Given the description of an element on the screen output the (x, y) to click on. 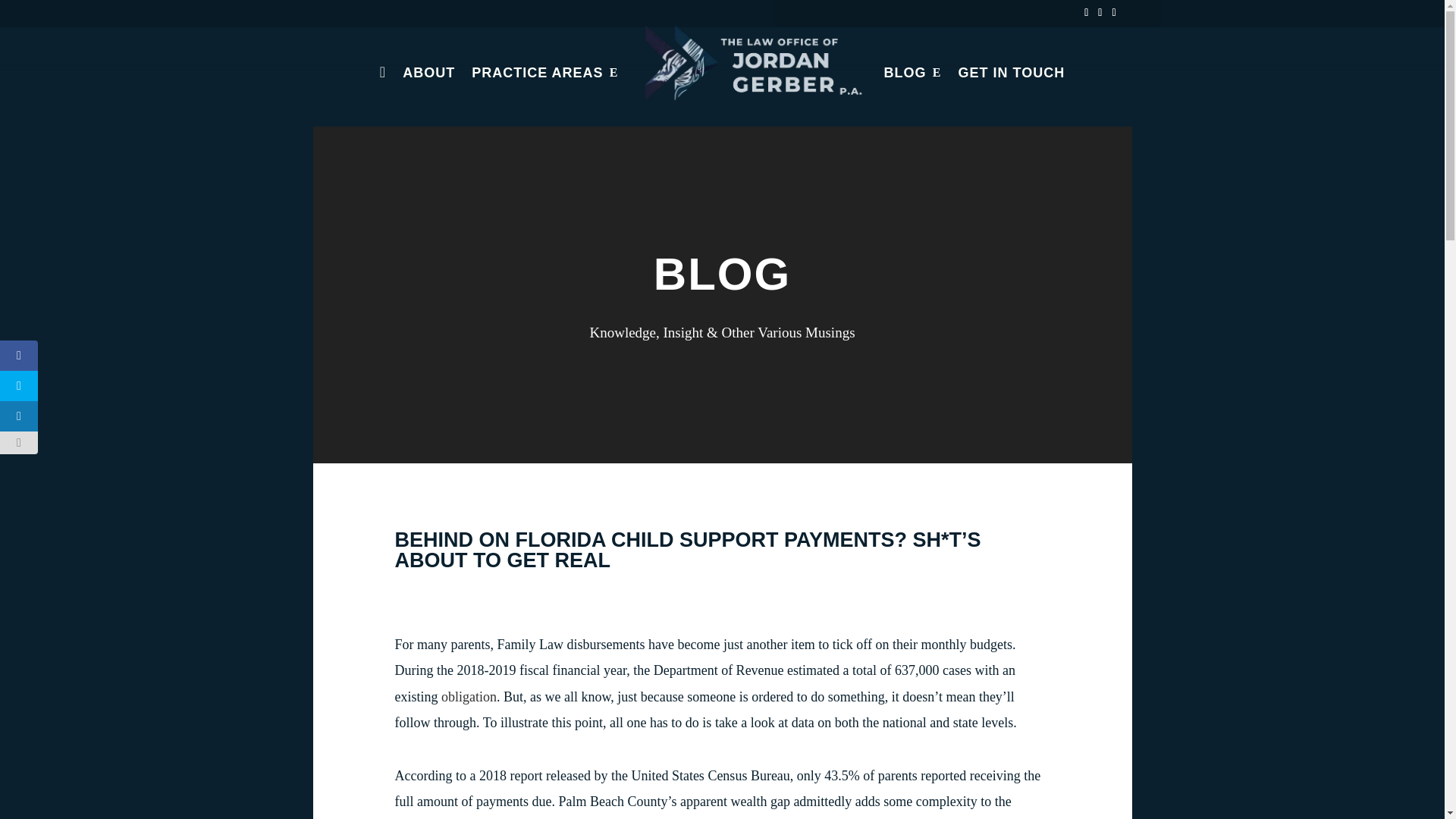
BLOG (912, 92)
ABOUT (428, 92)
GET IN TOUCH (1011, 92)
PRACTICE AREAS (544, 92)
